Given the description of an element on the screen output the (x, y) to click on. 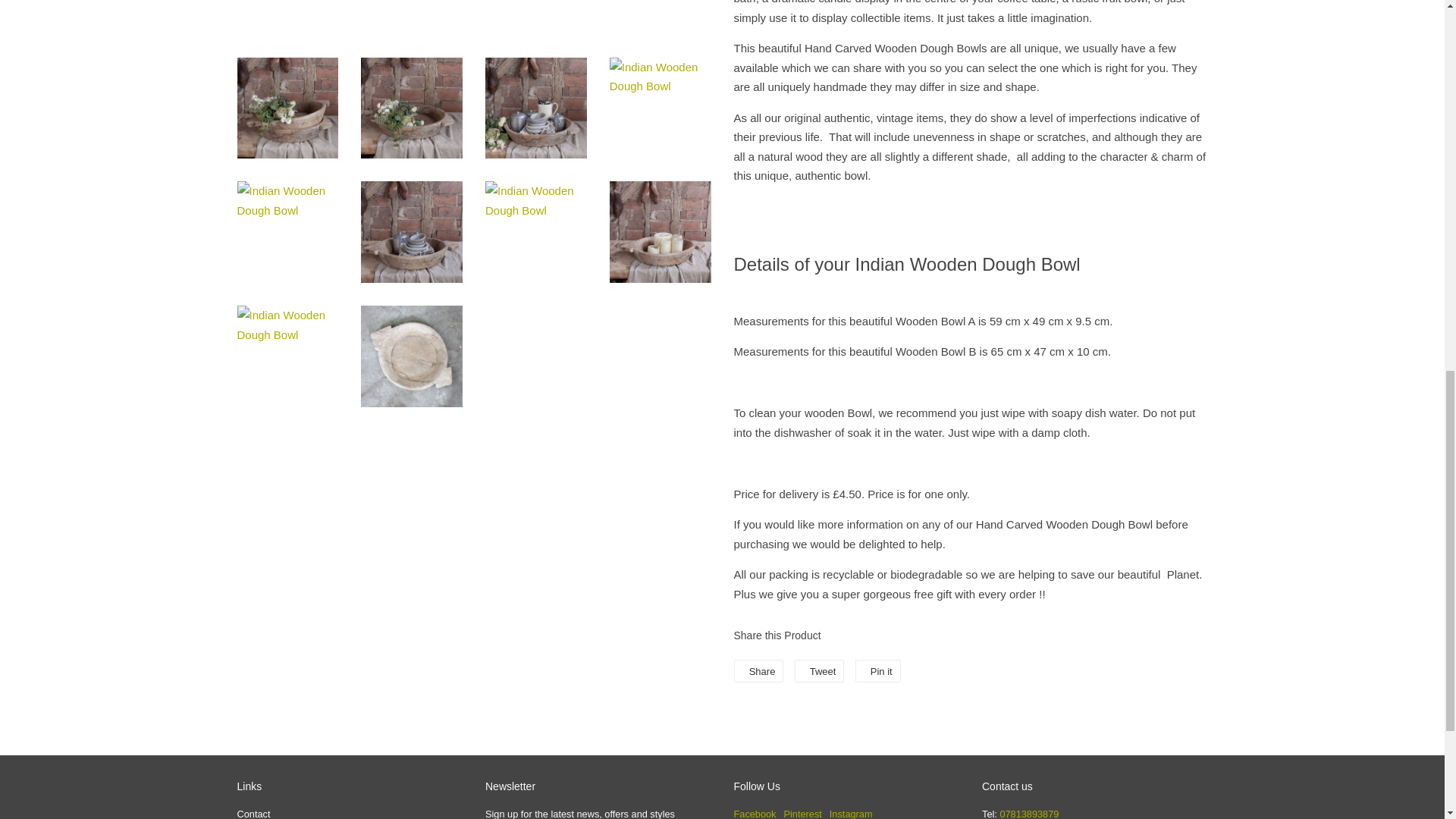
Share on Facebook (758, 671)
Pin on Pinterest (878, 671)
Tweet on Twitter (819, 671)
InekoHome on Instagram (850, 813)
InekoHome on Facebook (754, 813)
InekoHome on Pinterest (803, 813)
